Given the description of an element on the screen output the (x, y) to click on. 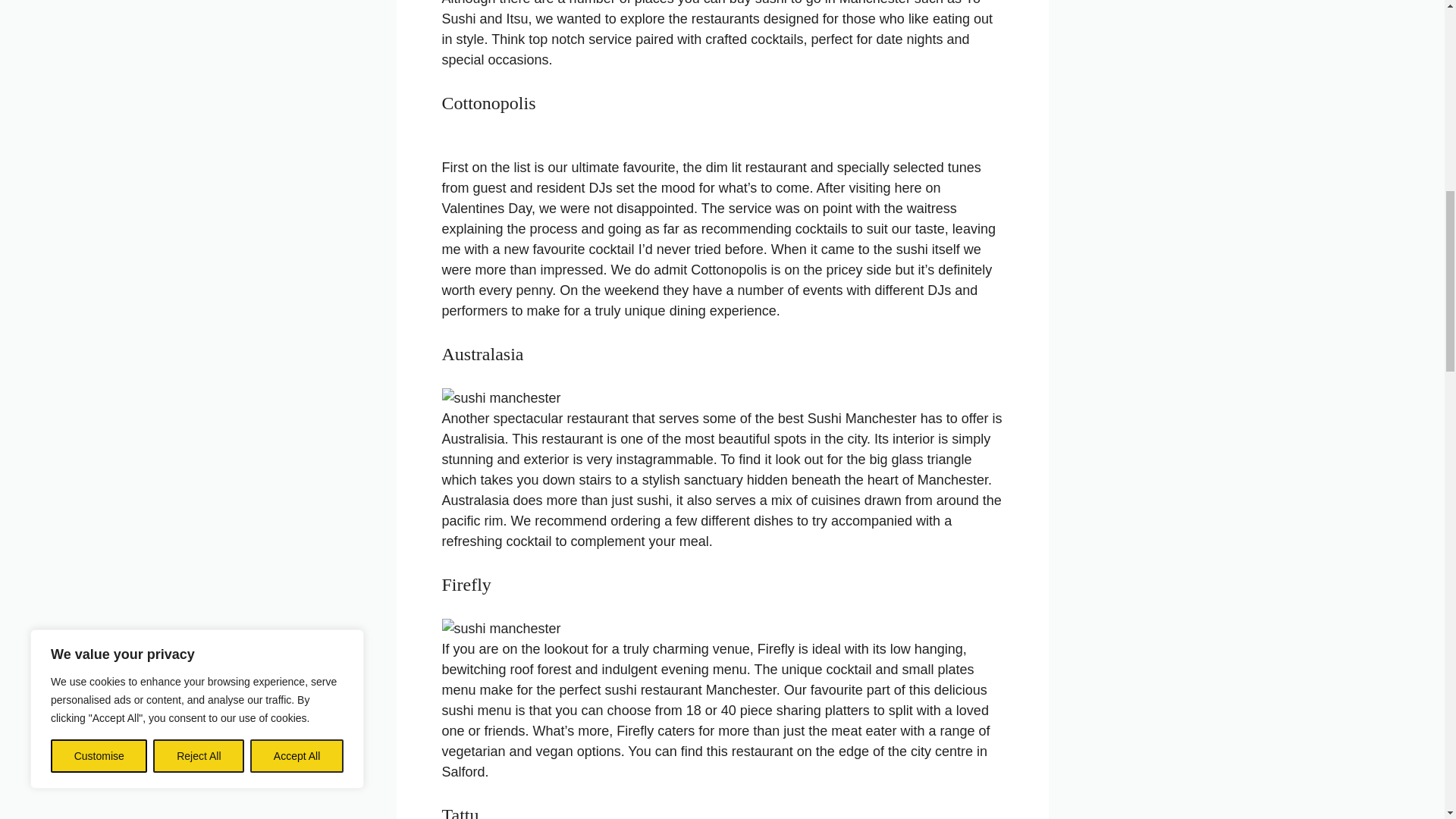
cocktail (611, 249)
Cottonopolis (728, 269)
Australisia (472, 438)
